Given the description of an element on the screen output the (x, y) to click on. 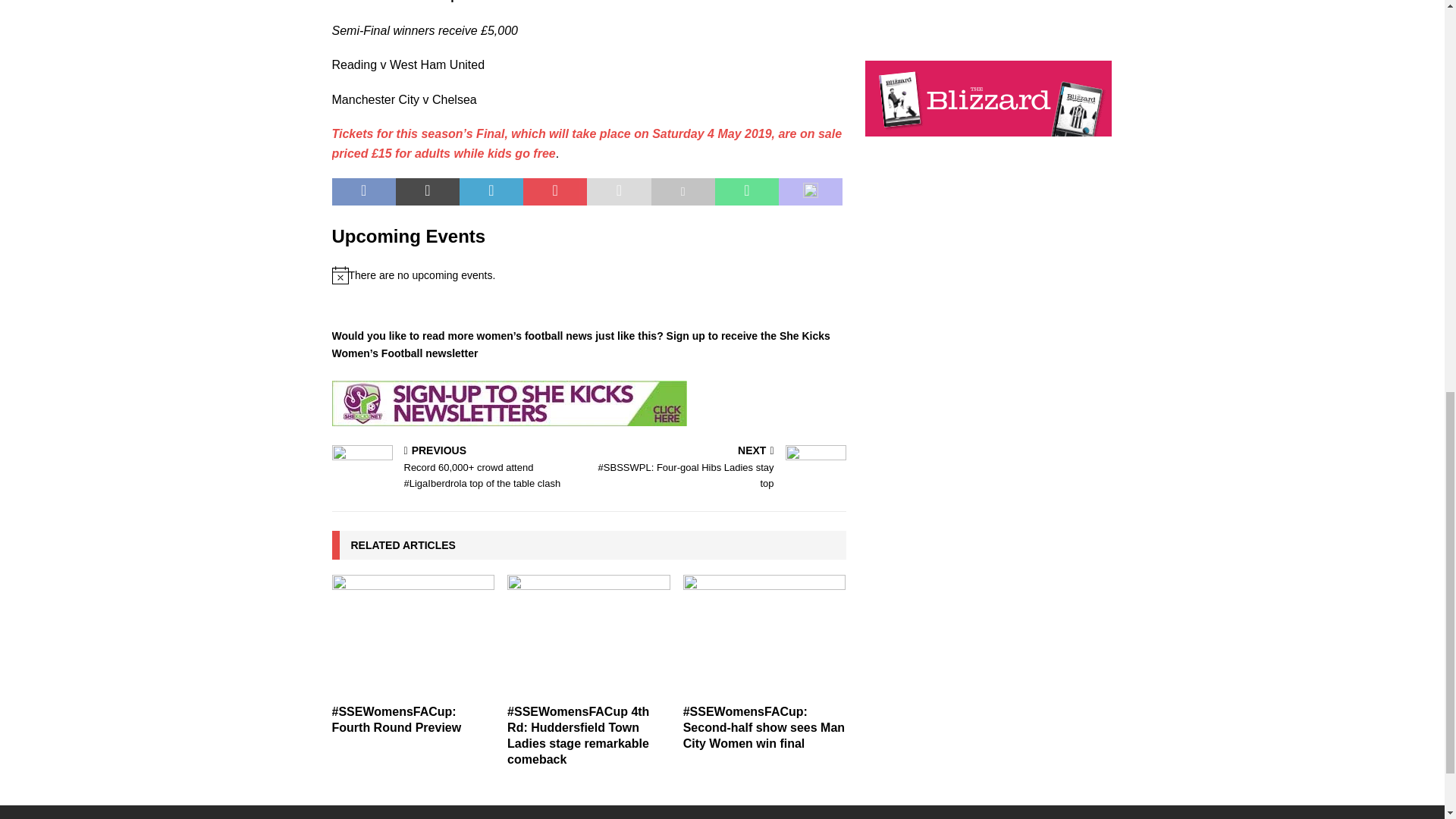
Share on LinkedIn (491, 191)
Print this article (682, 191)
Tweet This Post (428, 191)
Send this article to a friend (618, 191)
Pin This Post (554, 191)
Share On Mastodon (810, 191)
Share on Whatsapp (746, 191)
Share on Facebook (363, 191)
